Given the description of an element on the screen output the (x, y) to click on. 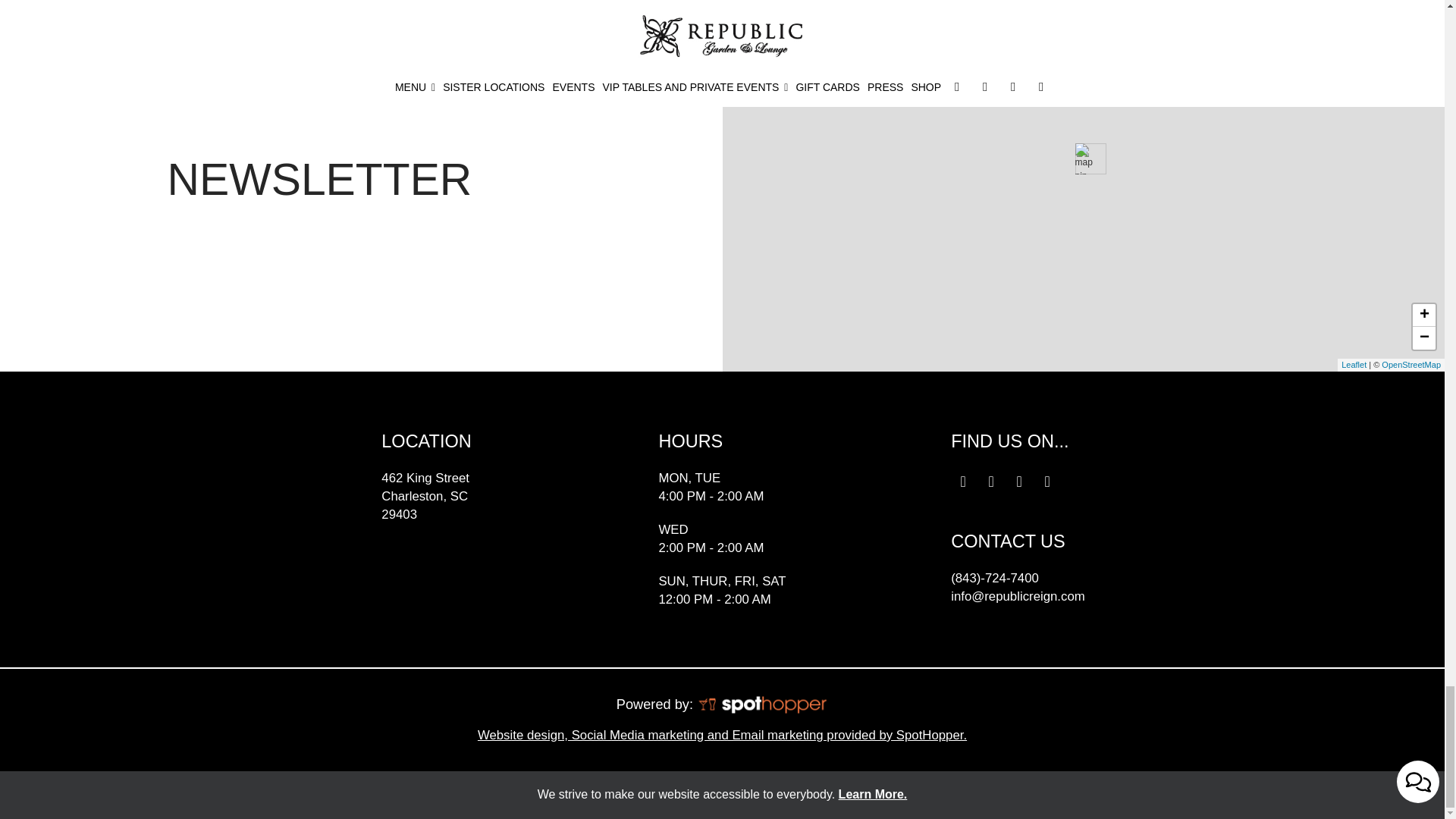
A JS library for interactive maps (1353, 364)
Zoom out (1423, 337)
Zoom in (1423, 314)
